Given the description of an element on the screen output the (x, y) to click on. 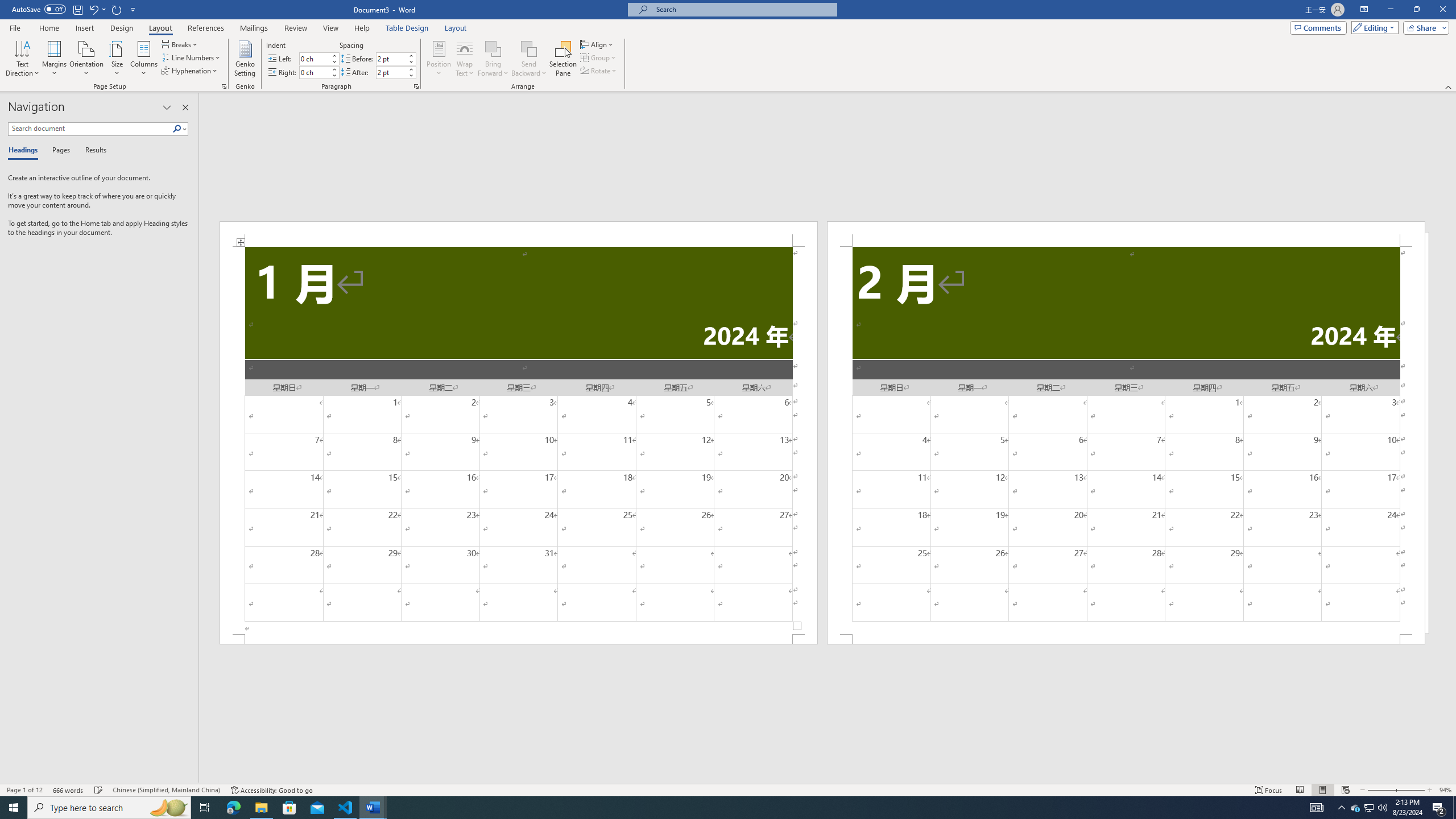
Send Backward (528, 58)
Indent Right (314, 72)
Rotate (599, 69)
Align (597, 44)
Spacing After (391, 72)
Spacing Before (391, 58)
Wrap Text (464, 58)
Line Numbers (191, 56)
Table Design (407, 28)
Page Setup... (223, 85)
Search document (89, 128)
Selection Pane... (563, 58)
